Given the description of an element on the screen output the (x, y) to click on. 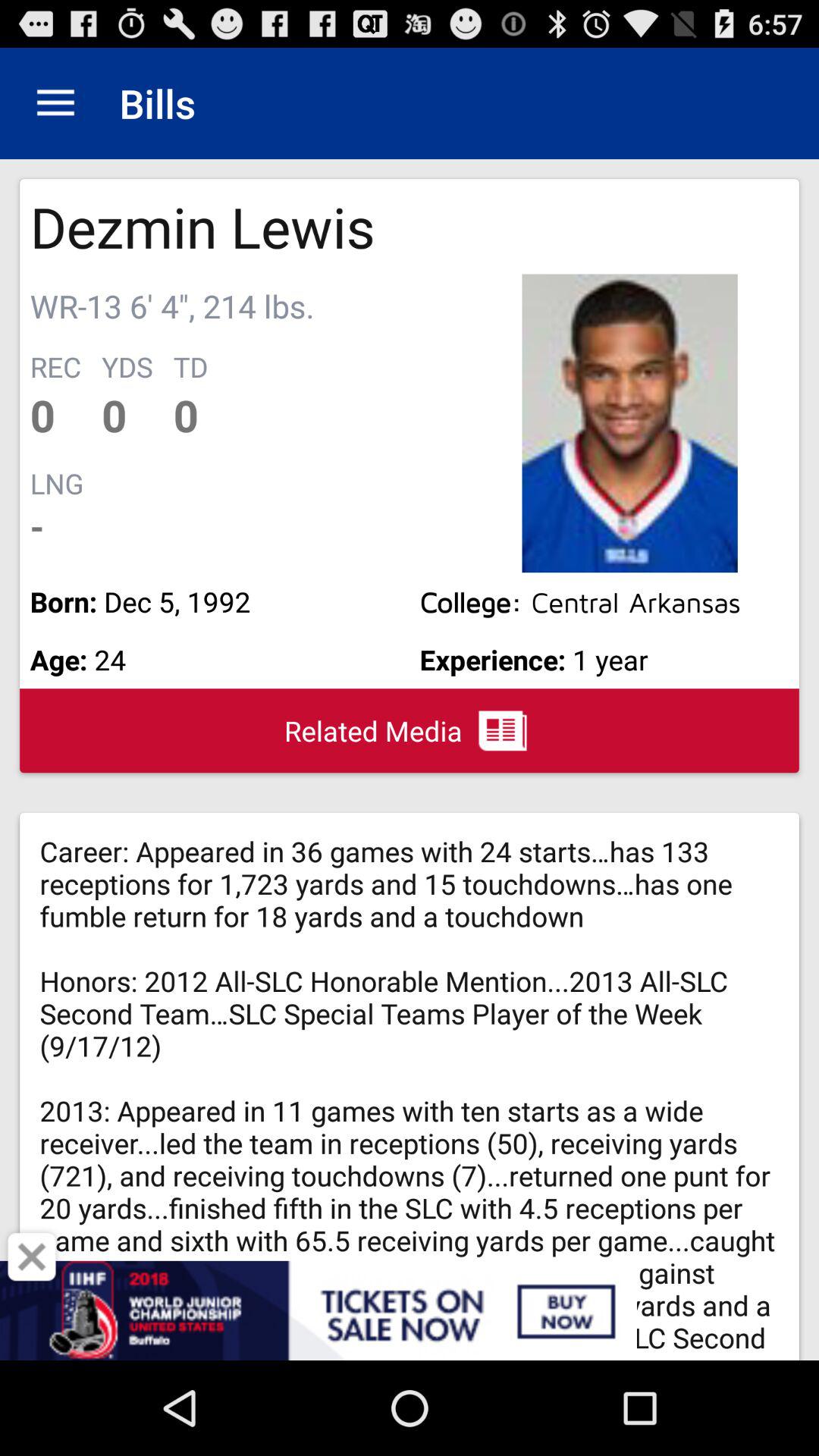
close (31, 1256)
